Given the description of an element on the screen output the (x, y) to click on. 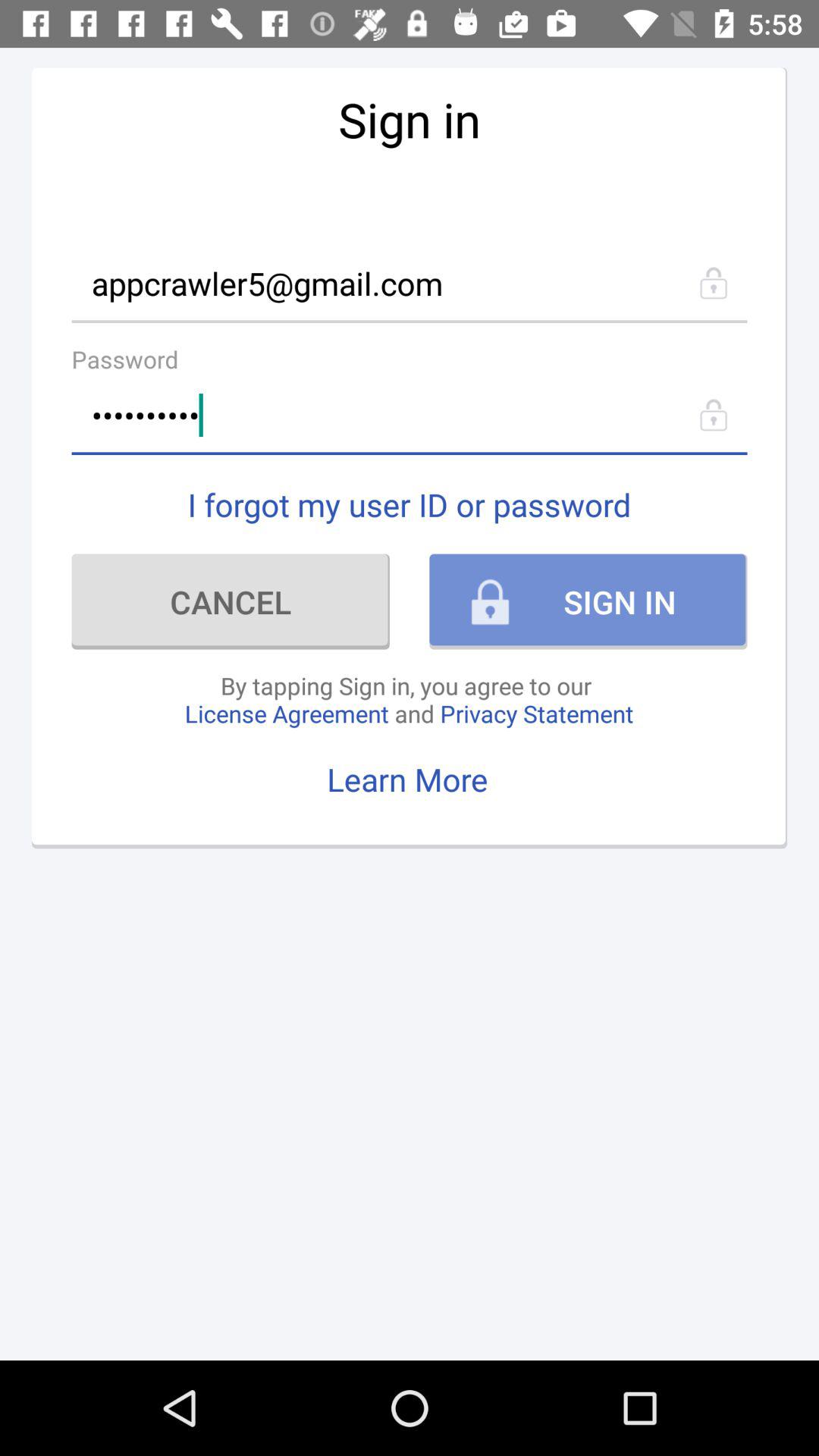
choose icon below the cancel icon (408, 699)
